Given the description of an element on the screen output the (x, y) to click on. 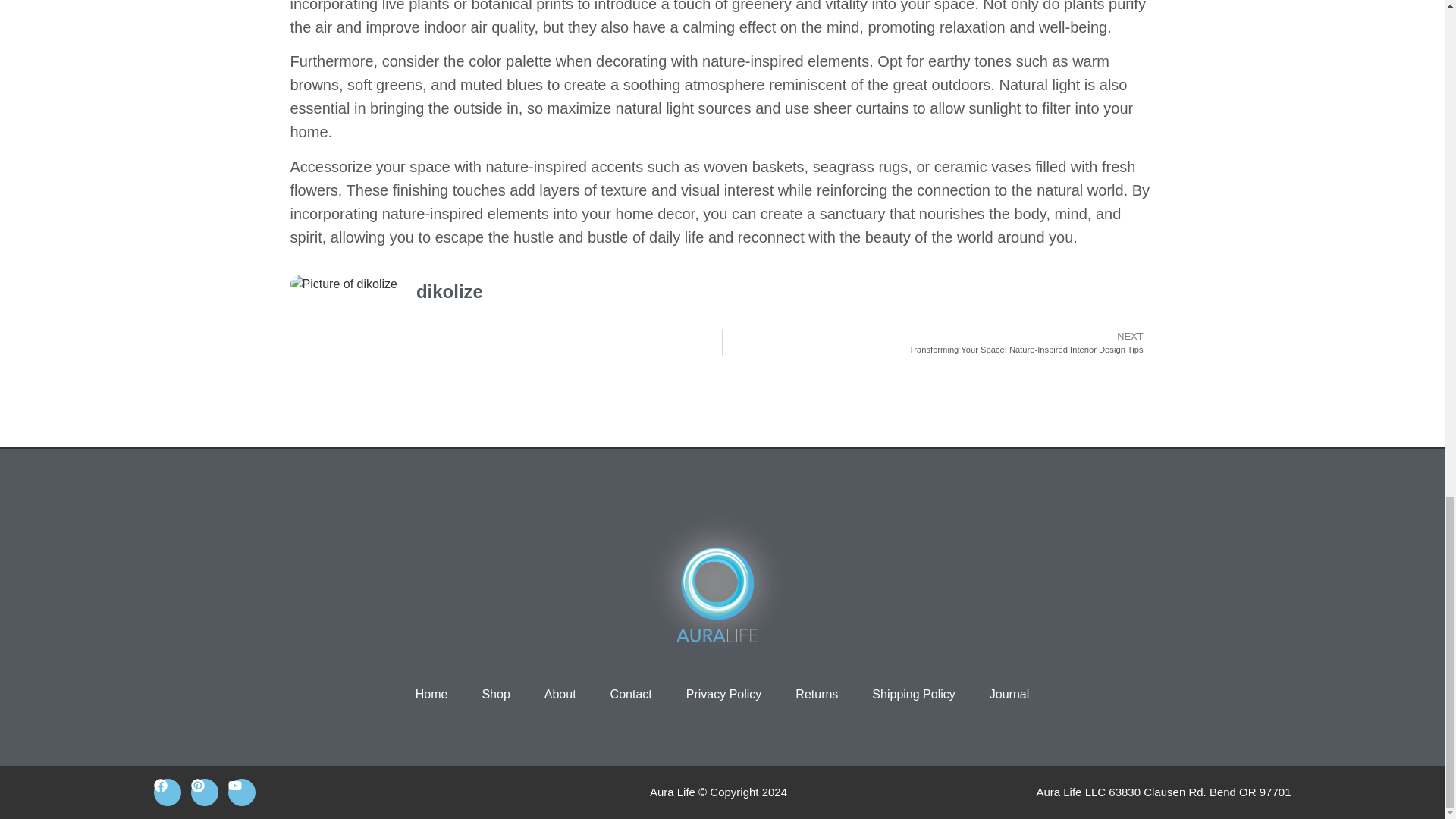
Home (431, 694)
About (560, 694)
Journal (1009, 694)
Shipping Policy (913, 694)
Shop (495, 694)
Contact (631, 694)
Privacy Policy (723, 694)
Returns (816, 694)
